Given the description of an element on the screen output the (x, y) to click on. 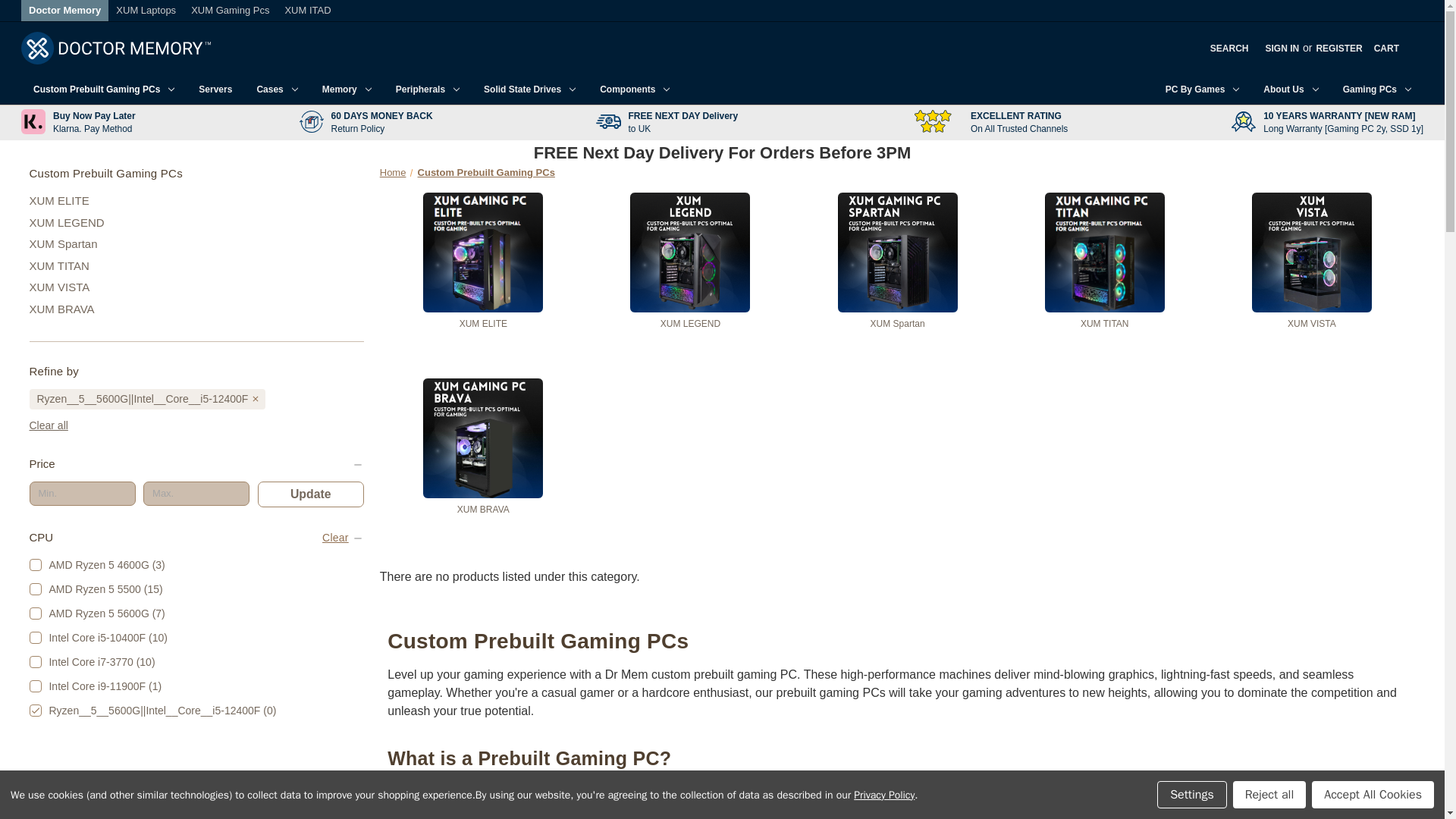
Memory (347, 89)
Doctor Memory (116, 47)
Peripherals (427, 89)
XUM BRAVA (195, 309)
Custom Prebuilt Gaming PCs (103, 89)
REGISTER (1338, 47)
SEARCH (1229, 47)
XUM LEGEND (195, 223)
XUM Laptops (146, 9)
XUM Gaming Pcs (229, 9)
SIGN IN (1281, 47)
CART (1386, 47)
XUM Spartan (195, 244)
Doctor Memory (64, 9)
XUM ELITE (195, 201)
